Given the description of an element on the screen output the (x, y) to click on. 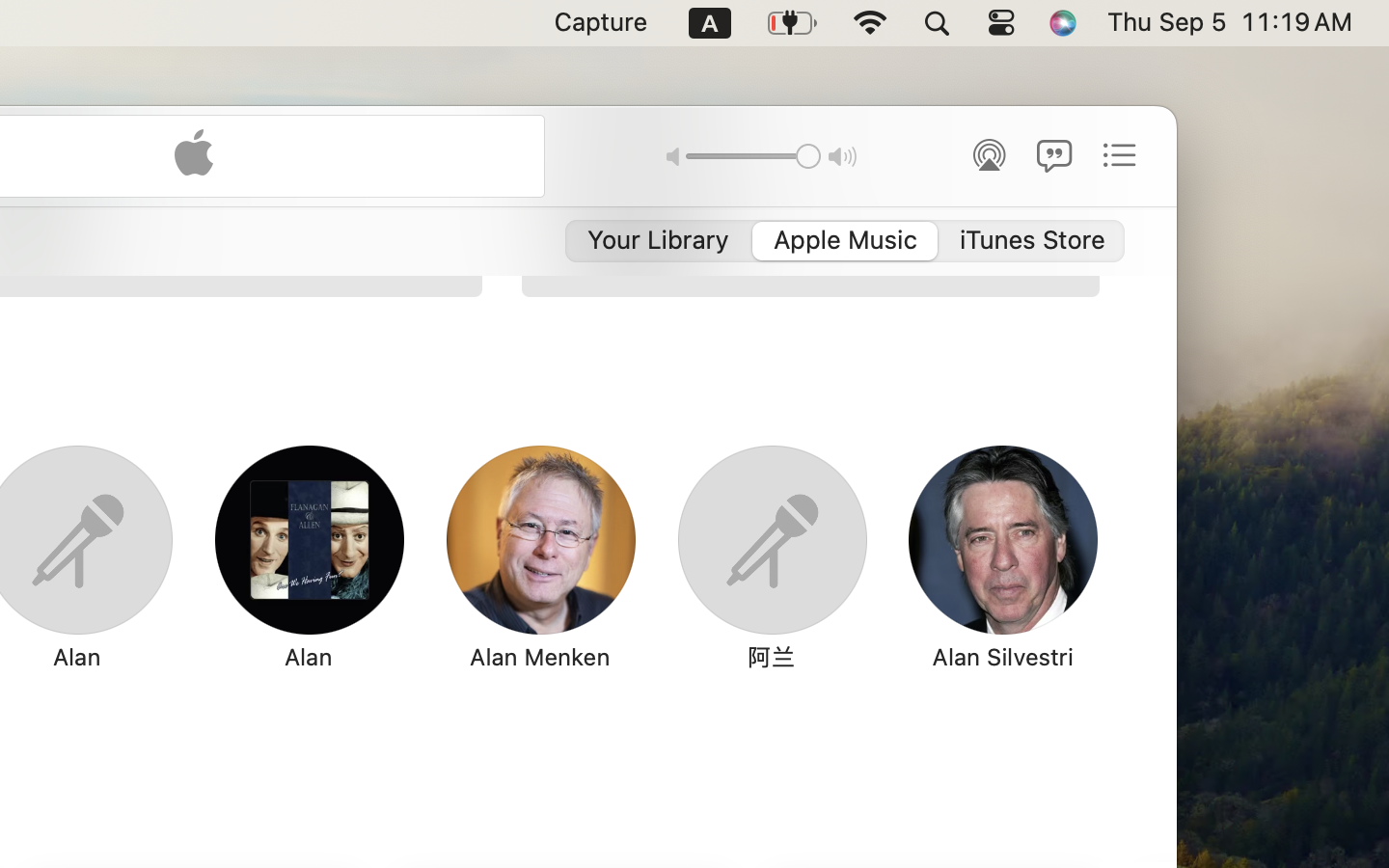
<AXUIElement 0x16bf655e0> {pid=1405} Element type: AXRadioGroup (844, 240)
Alan Silvestri Element type: AXStaticText (1003, 656)
Alan Menken Element type: AXStaticText (539, 656)
阿兰 Element type: AXStaticText (770, 656)
